Given the description of an element on the screen output the (x, y) to click on. 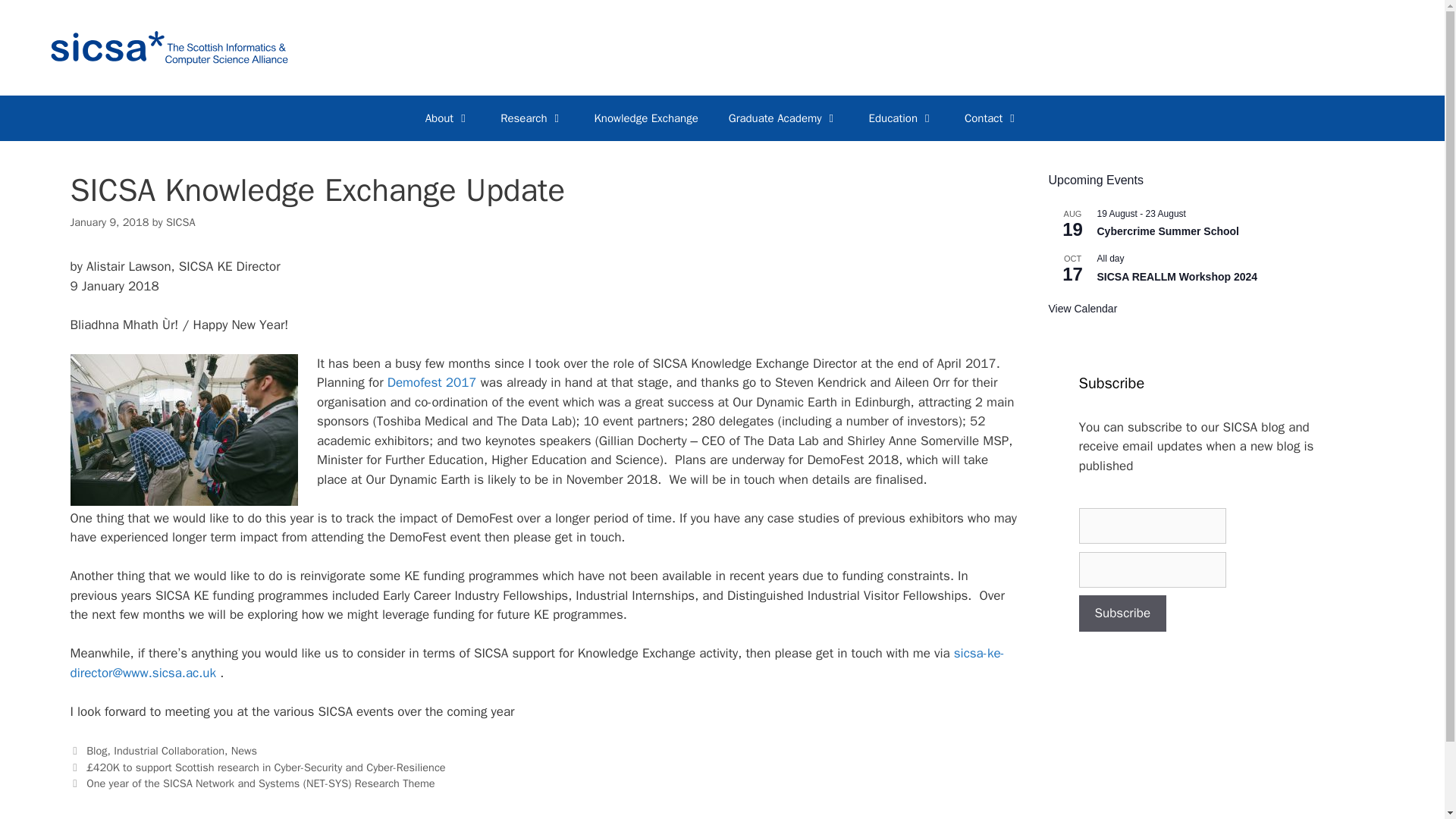
SICSA REALLM Workshop 2024 (1176, 276)
View all posts by SICSA (180, 222)
Subscribe (1122, 613)
Cybercrime Summer School (1167, 231)
Contact (991, 117)
Blog (95, 750)
Graduate Academy (783, 117)
View more events. (1082, 308)
Industrial Collaboration (168, 750)
About (447, 117)
Research (531, 117)
SICSA (180, 222)
SICSA REALLM Workshop 2024 (1176, 276)
Demofest 2017 (433, 382)
News (244, 750)
